Given the description of an element on the screen output the (x, y) to click on. 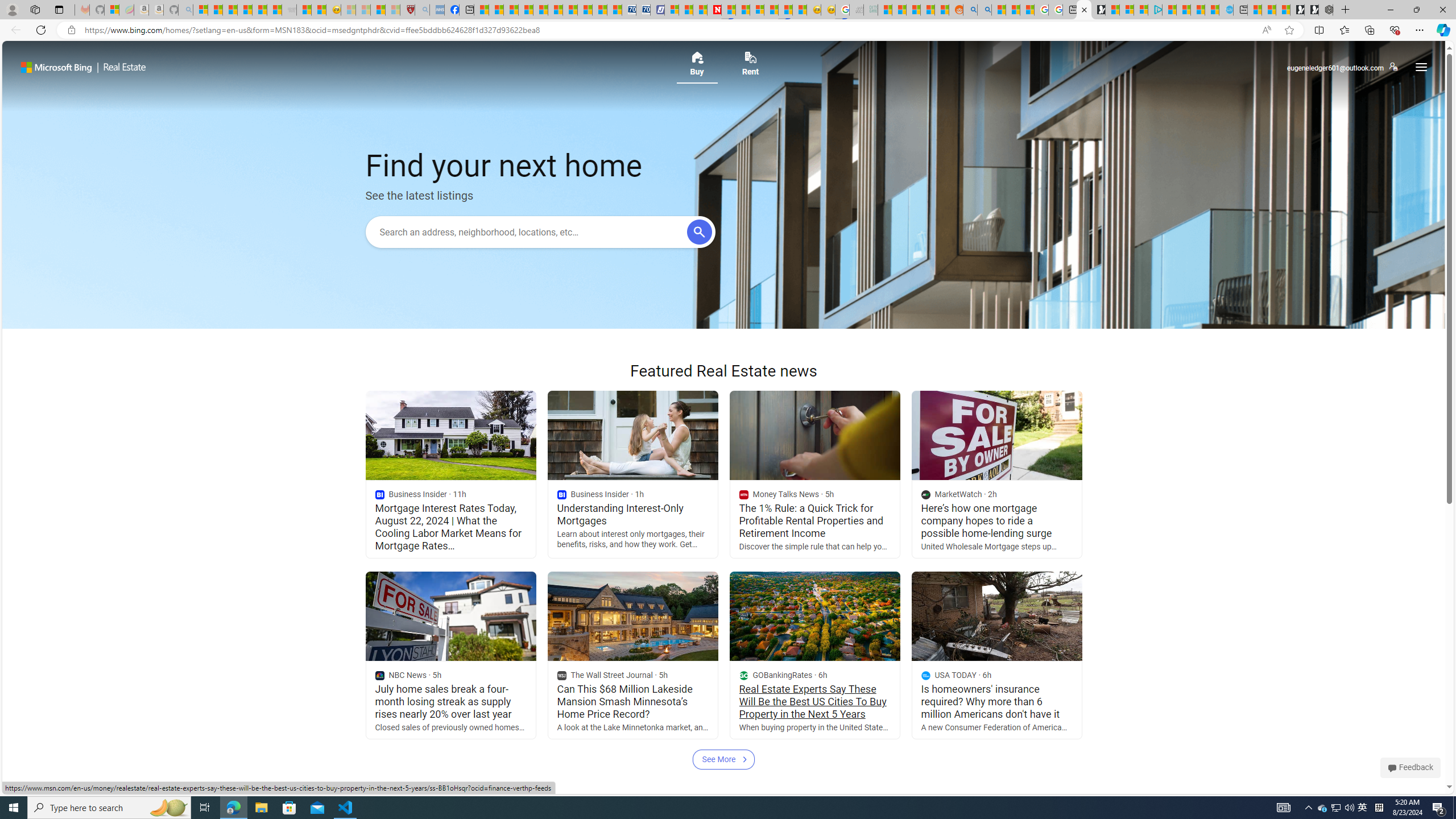
eugeneledger601@outlook.com (1342, 67)
Newsweek - News, Analysis, Politics, Business, Technology (713, 9)
Cheap Hotels - Save70.com (643, 9)
Class: index-module__image--a7f677 (996, 615)
Class: index-module__icon--92f11c (925, 675)
